Given the description of an element on the screen output the (x, y) to click on. 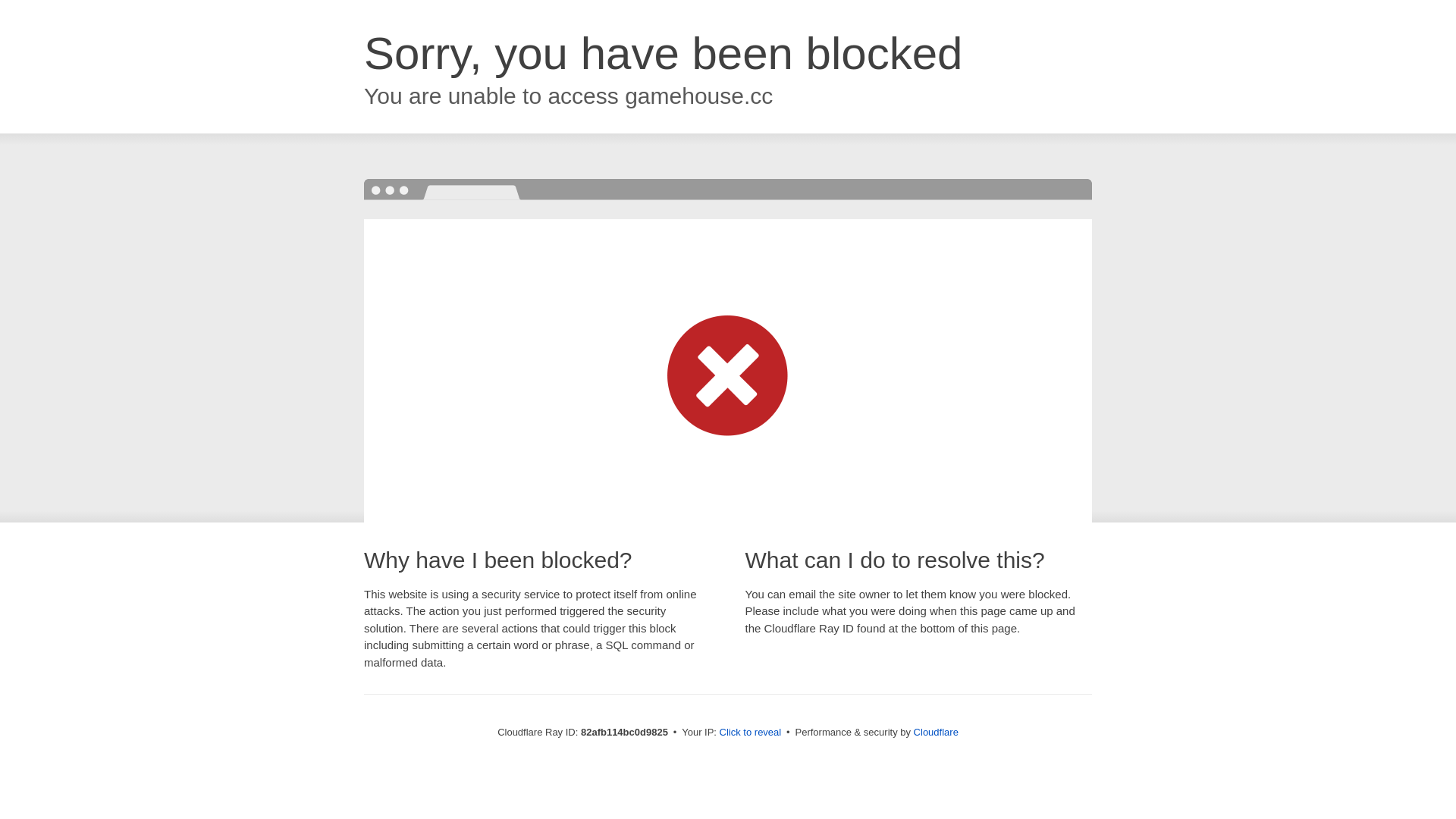
Cloudflare Element type: text (935, 731)
Click to reveal Element type: text (750, 732)
